Given the description of an element on the screen output the (x, y) to click on. 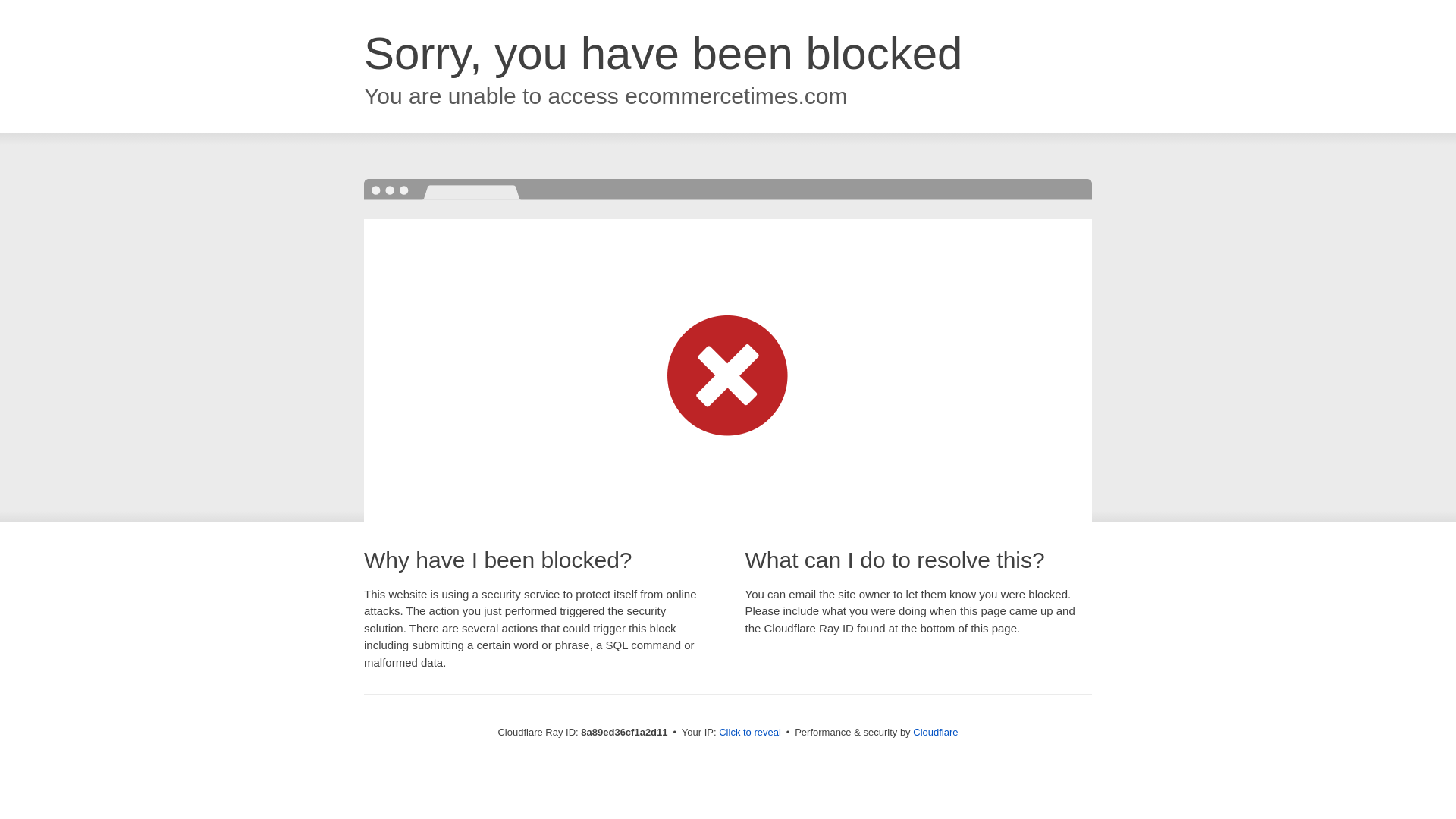
Cloudflare (935, 731)
Click to reveal (749, 732)
